Given the description of an element on the screen output the (x, y) to click on. 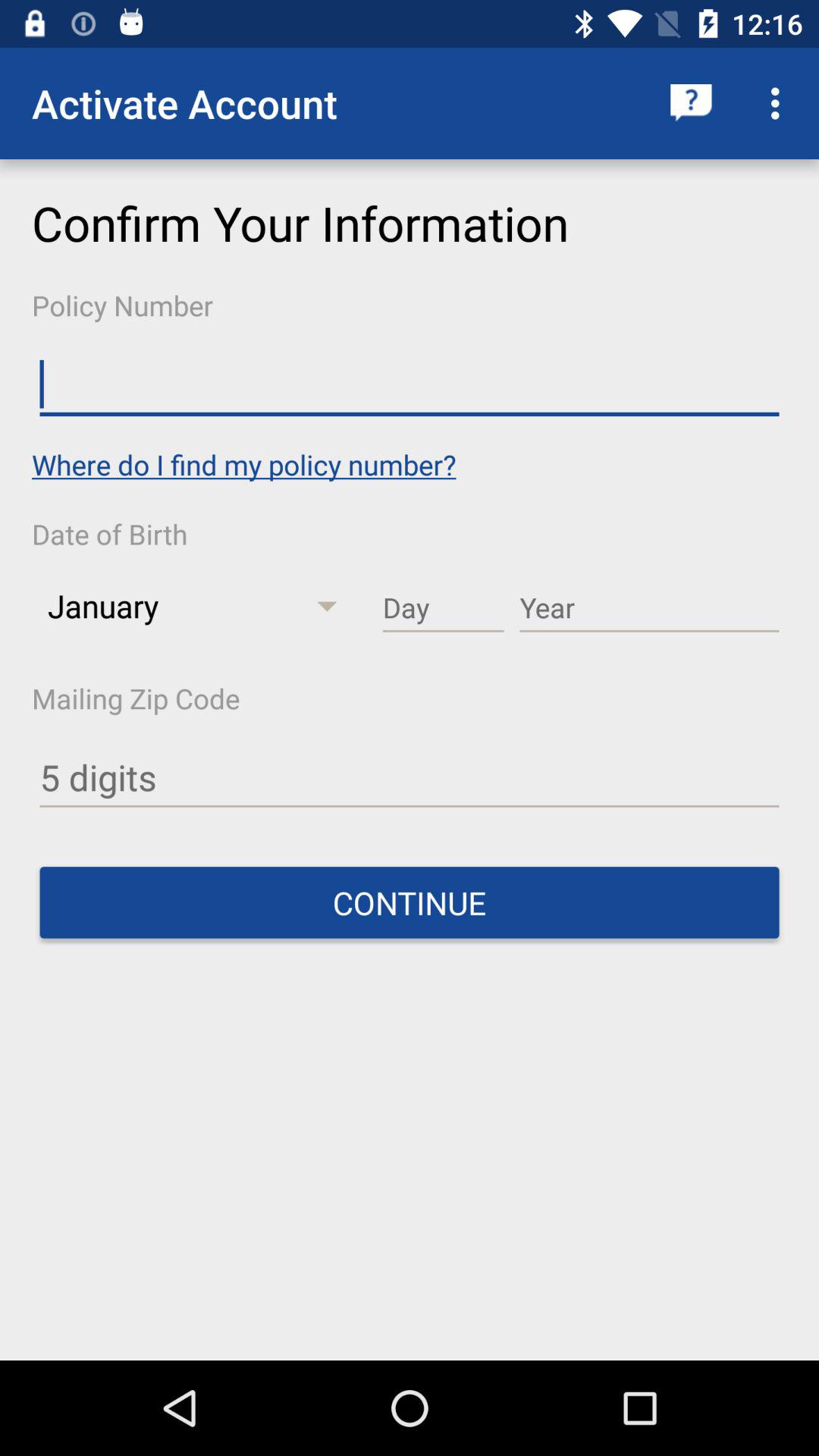
year of the birth (649, 607)
